Given the description of an element on the screen output the (x, y) to click on. 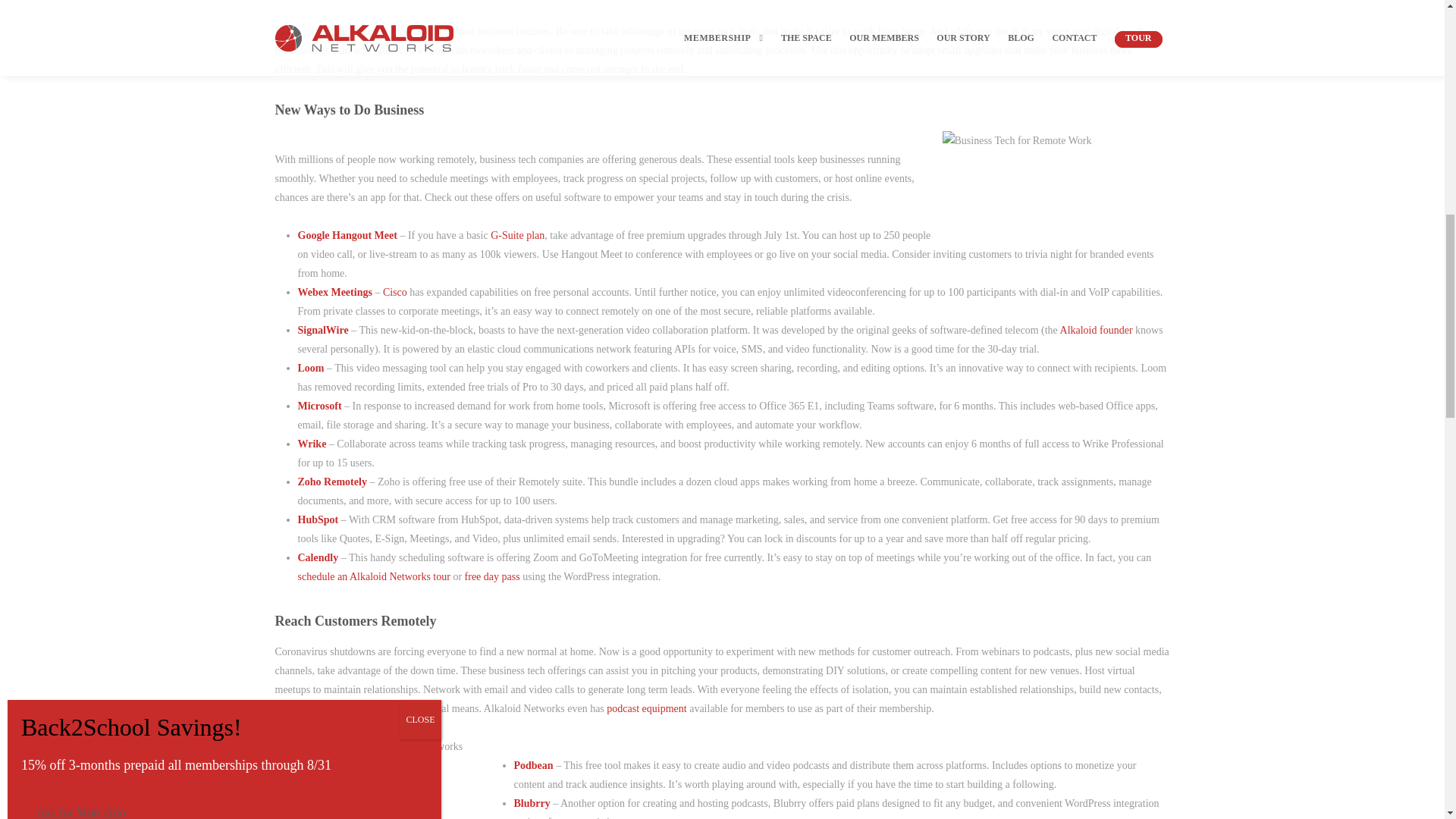
Microsoft (318, 405)
Alkaloid founder (1095, 329)
Cisco (394, 292)
Google Hangout Meet (346, 234)
SignalWire (322, 329)
Webex Meetings (334, 292)
Loom (310, 367)
G-Suite plan (517, 234)
